Given the description of an element on the screen output the (x, y) to click on. 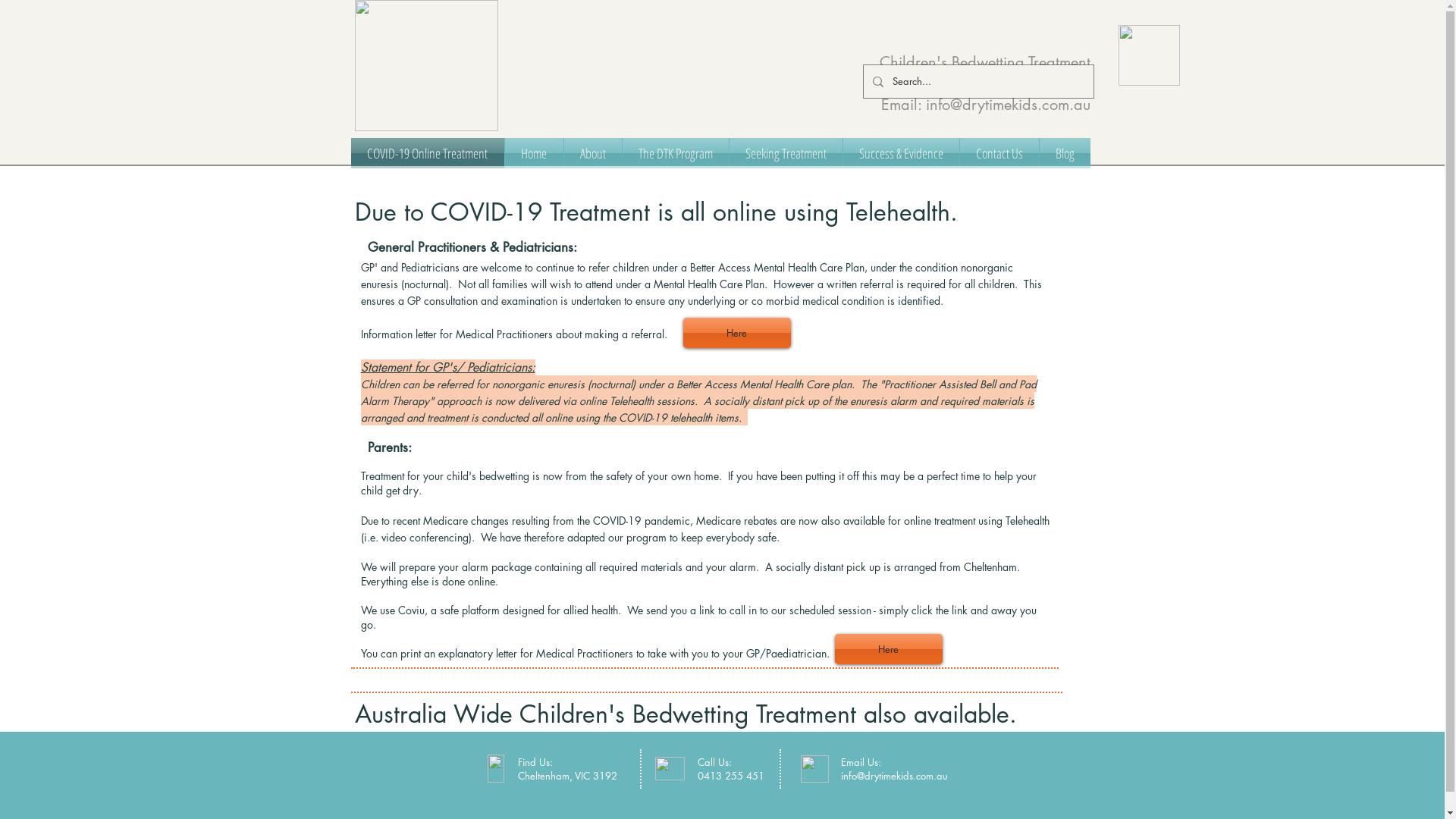
The DTK Program Element type: text (674, 153)
Here Element type: text (887, 648)
Here Element type: text (736, 332)
Blog Element type: text (1063, 153)
info@drytimekids.com.au Element type: text (1007, 104)
Seeking Treatment Element type: text (785, 153)
info@drytimekids.com.au Element type: text (893, 775)
COVID-19 Online Treatment Element type: text (426, 153)
Success & Evidence Element type: text (901, 153)
Home Element type: text (534, 153)
About Element type: text (592, 153)
Contact Us Element type: text (999, 153)
